Given the description of an element on the screen output the (x, y) to click on. 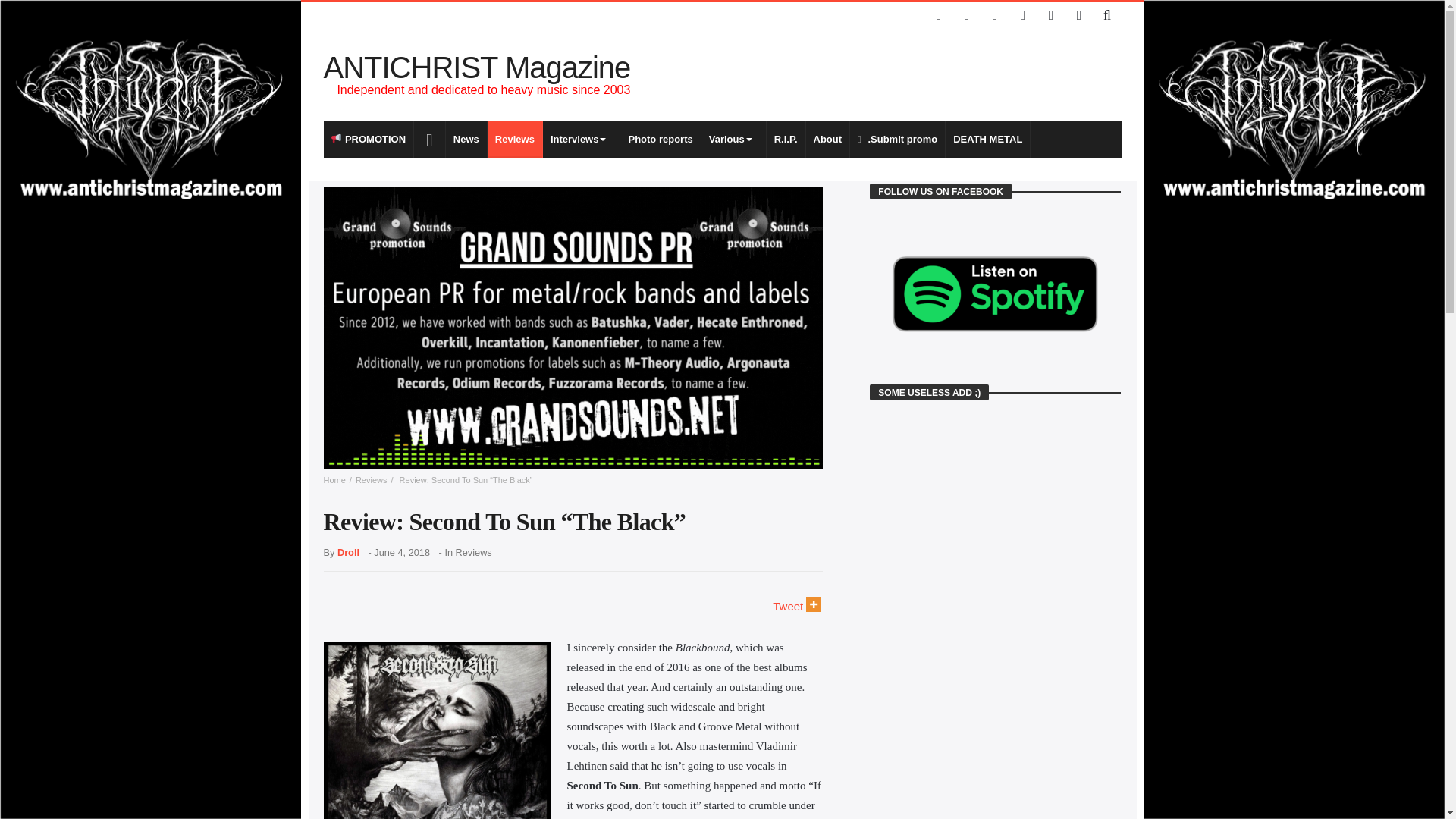
ANTICHRIST Magazine (476, 67)
News (466, 139)
Youtube (995, 15)
Facebook (938, 15)
Twitter (965, 15)
PROMOTION (368, 139)
spotify (1078, 15)
instagram (1022, 15)
paypal (1050, 15)
